Given the description of an element on the screen output the (x, y) to click on. 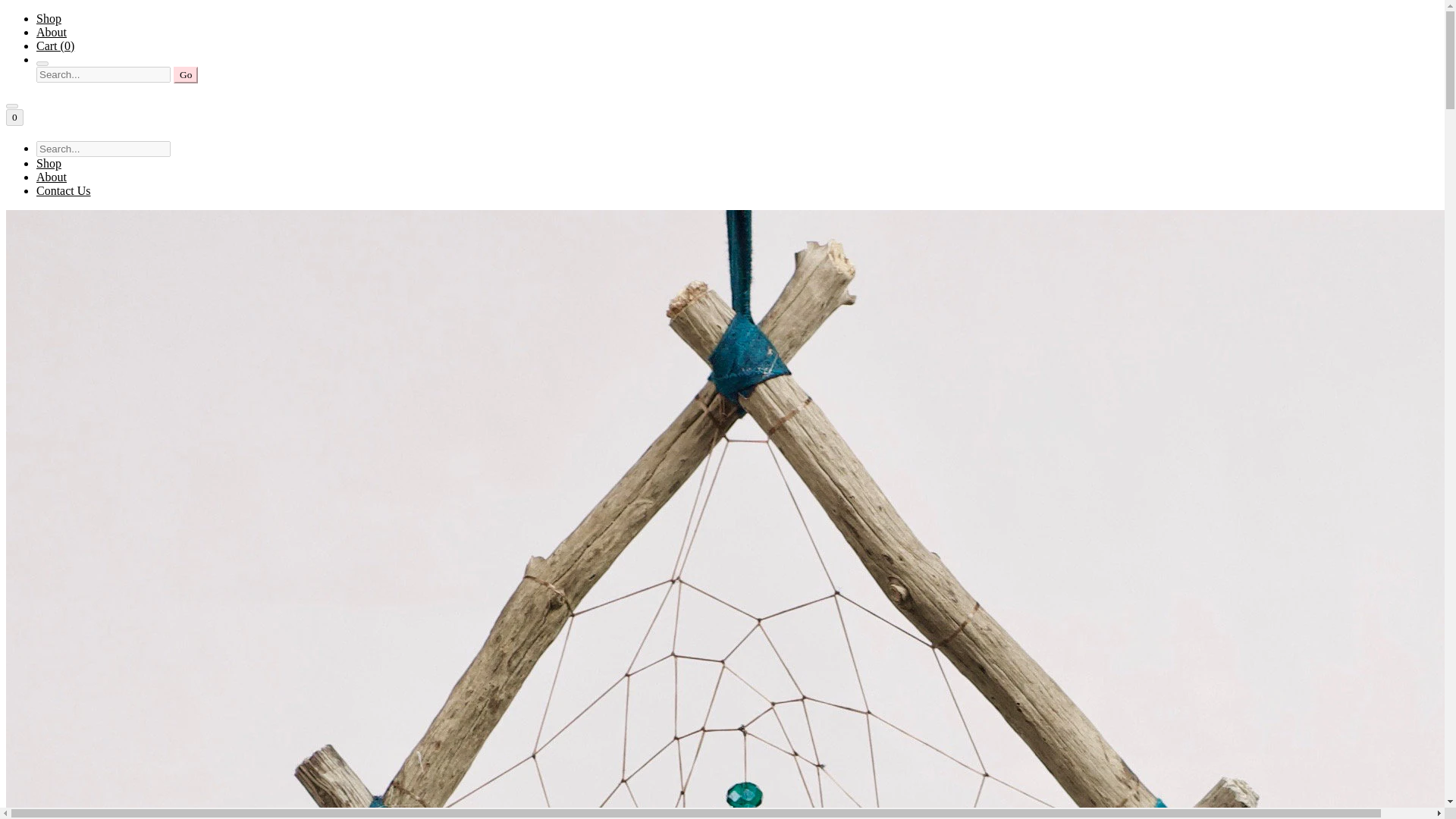
Shop (48, 163)
Shop (48, 18)
Go (185, 74)
About (51, 31)
Contact Us (63, 190)
0 (14, 117)
About (51, 176)
Go (185, 74)
